Given the description of an element on the screen output the (x, y) to click on. 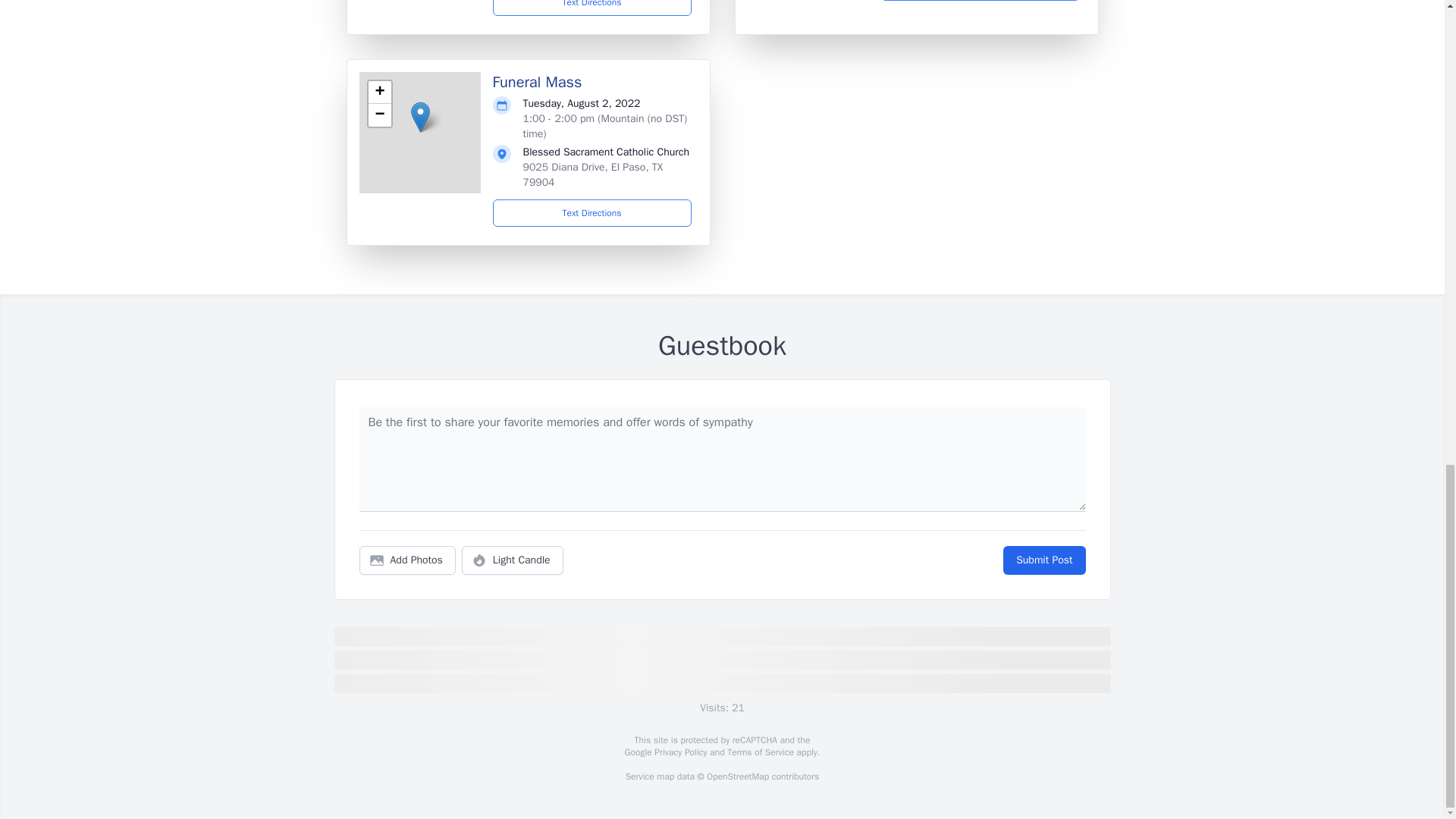
Text Directions (592, 212)
Text Directions (592, 7)
Add Photos (407, 560)
Submit Post (1043, 560)
Light Candle (512, 560)
9025 Diana Drive, El Paso, TX 79904 (592, 174)
Zoom out (379, 115)
Zoom in (379, 92)
